Given the description of an element on the screen output the (x, y) to click on. 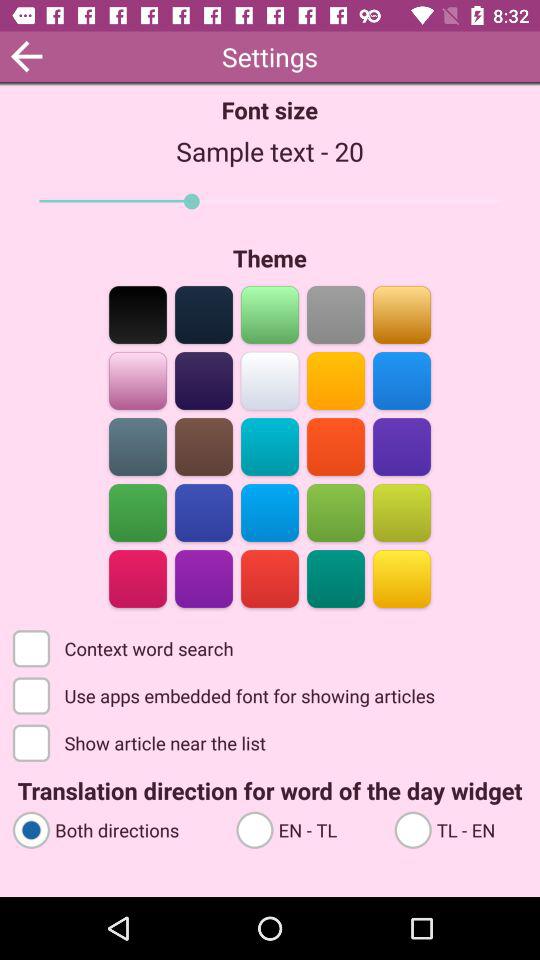
colour of the theme (401, 313)
